Given the description of an element on the screen output the (x, y) to click on. 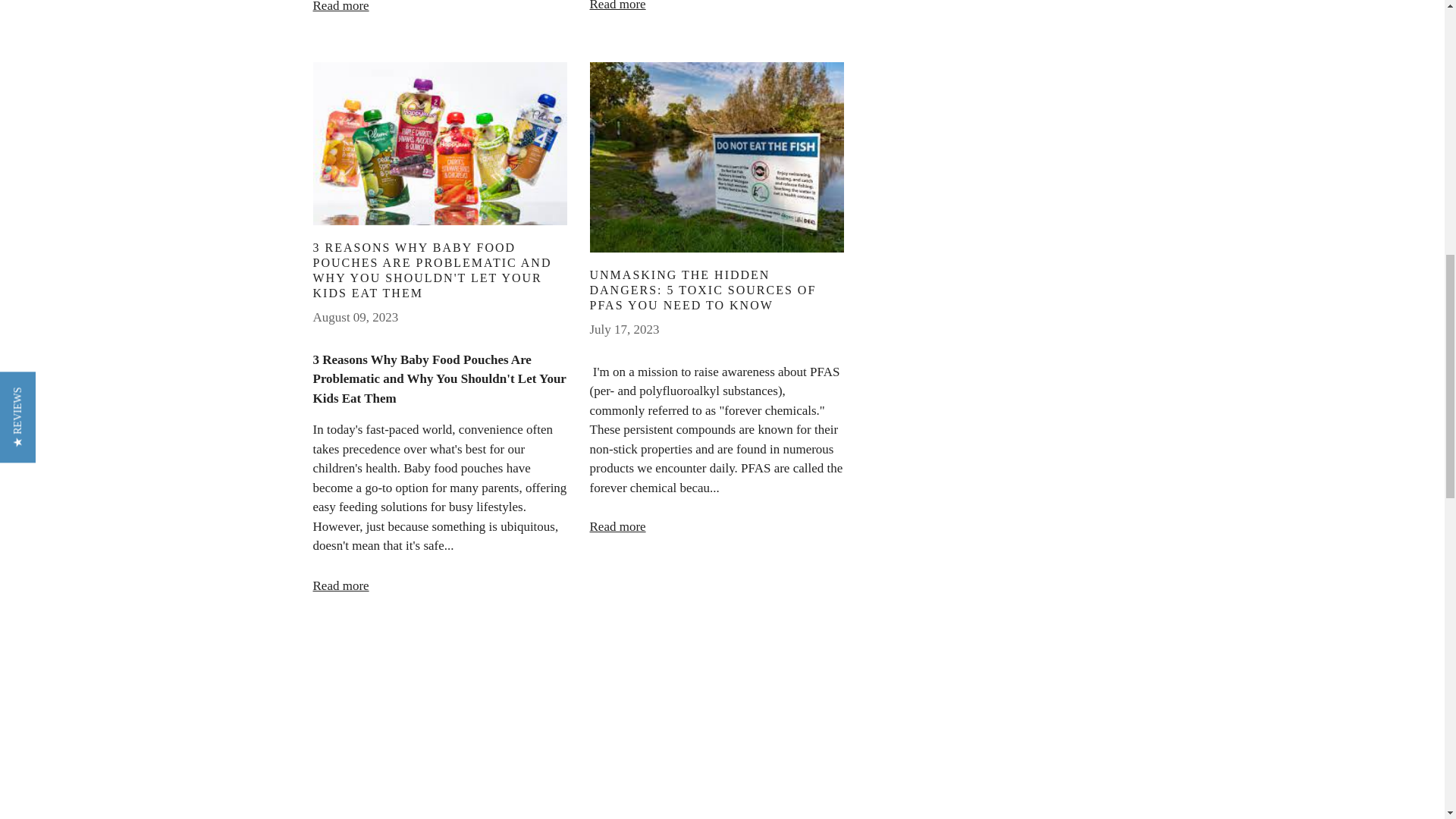
View Post (439, 725)
View Post (716, 157)
View Post (716, 730)
View Post (439, 143)
